Given the description of an element on the screen output the (x, y) to click on. 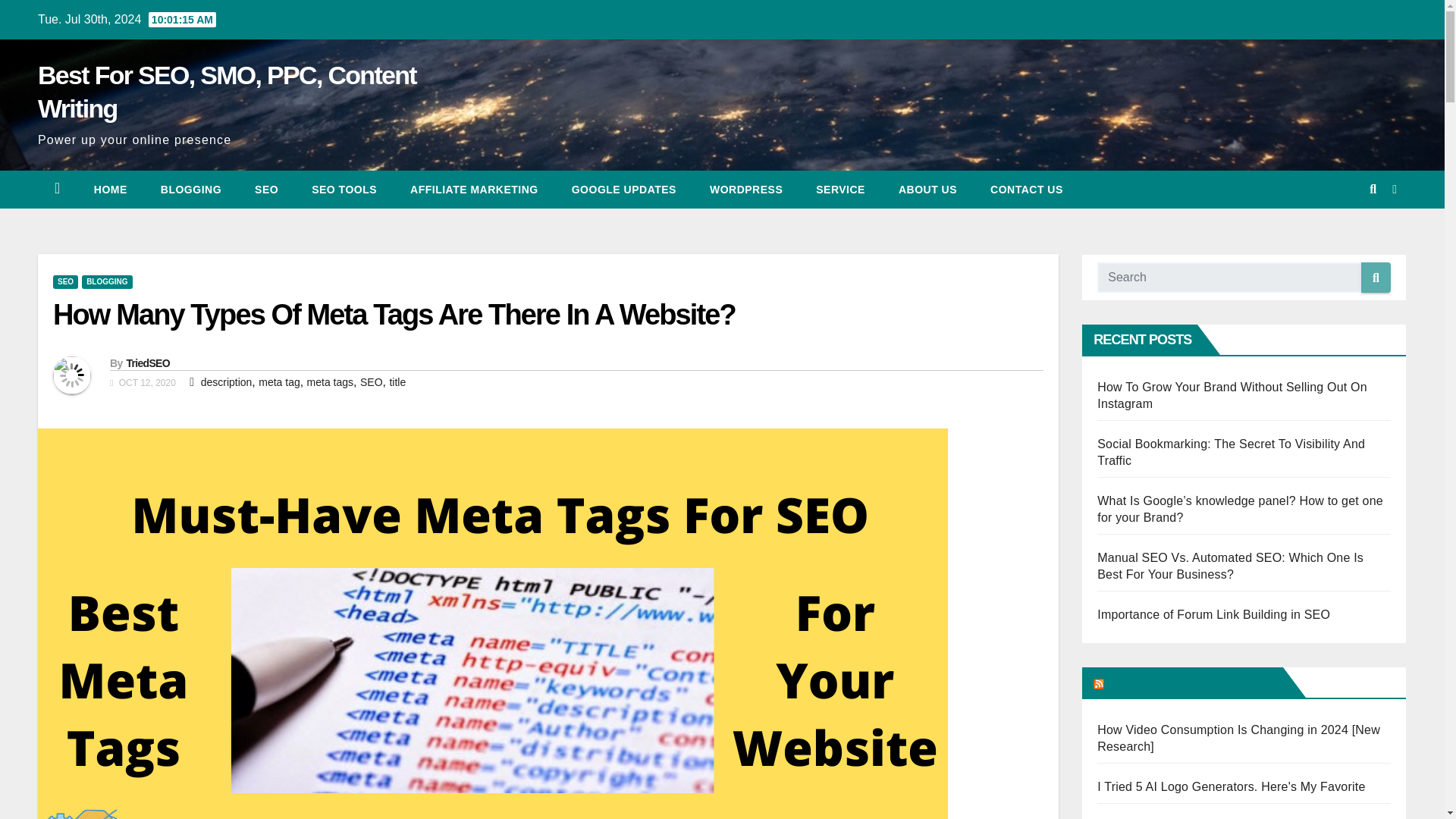
Home (110, 189)
Affiliate Marketing (473, 189)
meta tags (330, 381)
Best For SEO, SMO, PPC, Content Writing (226, 91)
About Us (928, 189)
BLOGGING (106, 282)
BLOGGING (191, 189)
Google Updates (623, 189)
SERVICE (840, 189)
TriedSEO (146, 363)
SEO (370, 381)
CONTACT US (1027, 189)
SEO (65, 282)
SEO (266, 189)
